Given the description of an element on the screen output the (x, y) to click on. 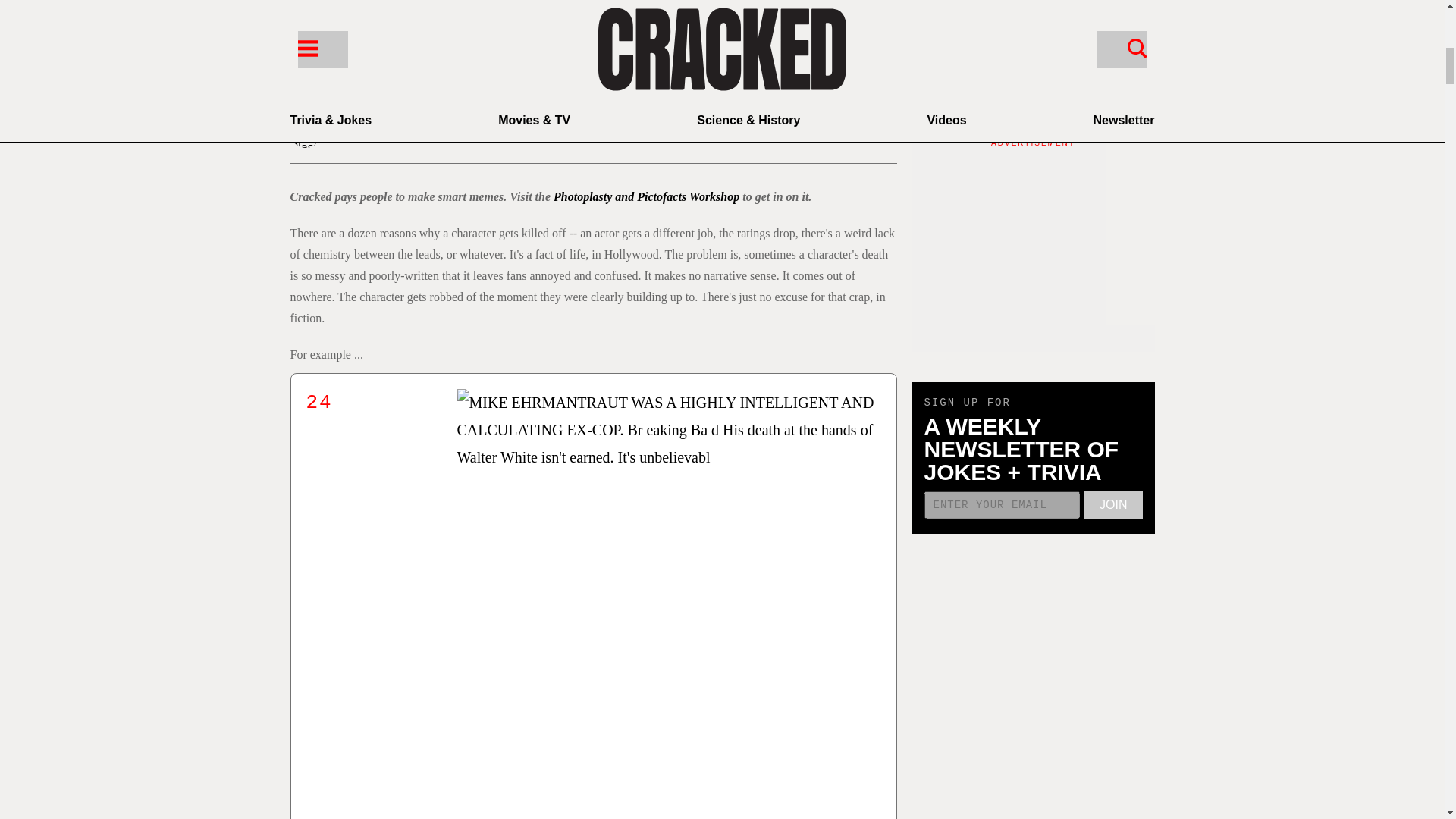
Photoplasty and Pictofacts Workshop (646, 196)
Cracked Plasticians (387, 132)
